Given the description of an element on the screen output the (x, y) to click on. 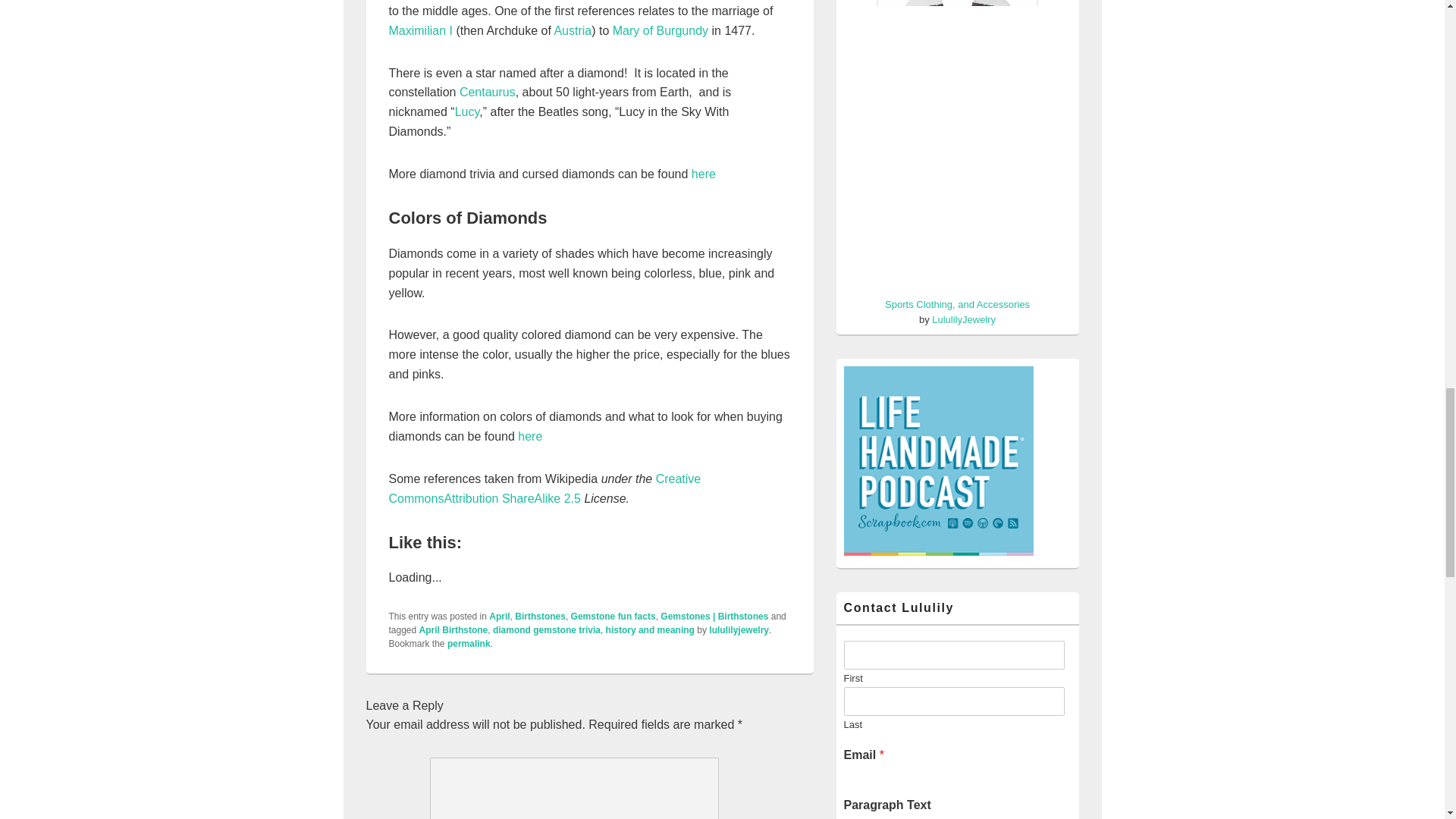
Maximilian I, Holy Roman Emperor (419, 30)
Mary of Burgundy (659, 30)
Austria (572, 30)
